Given the description of an element on the screen output the (x, y) to click on. 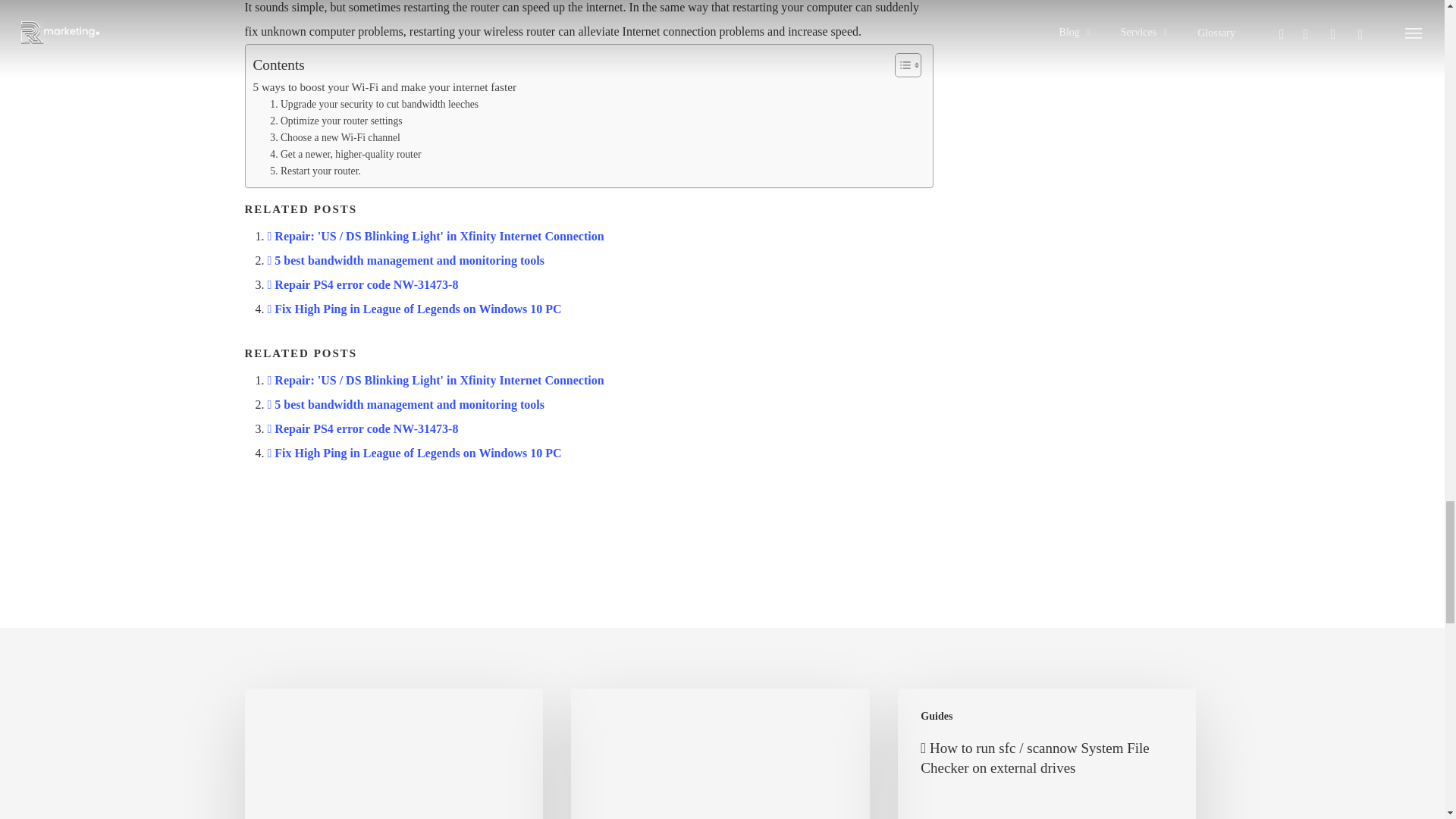
2. Optimize your router settings (335, 121)
5 ways to boost your Wi-Fi and make your internet faster (384, 86)
5. Restart your router. (315, 170)
1. Upgrade your security to cut bandwidth leeches (374, 104)
4. Get a newer, higher-quality router (344, 154)
3. Choose a new Wi-Fi channel (334, 137)
